Given the description of an element on the screen output the (x, y) to click on. 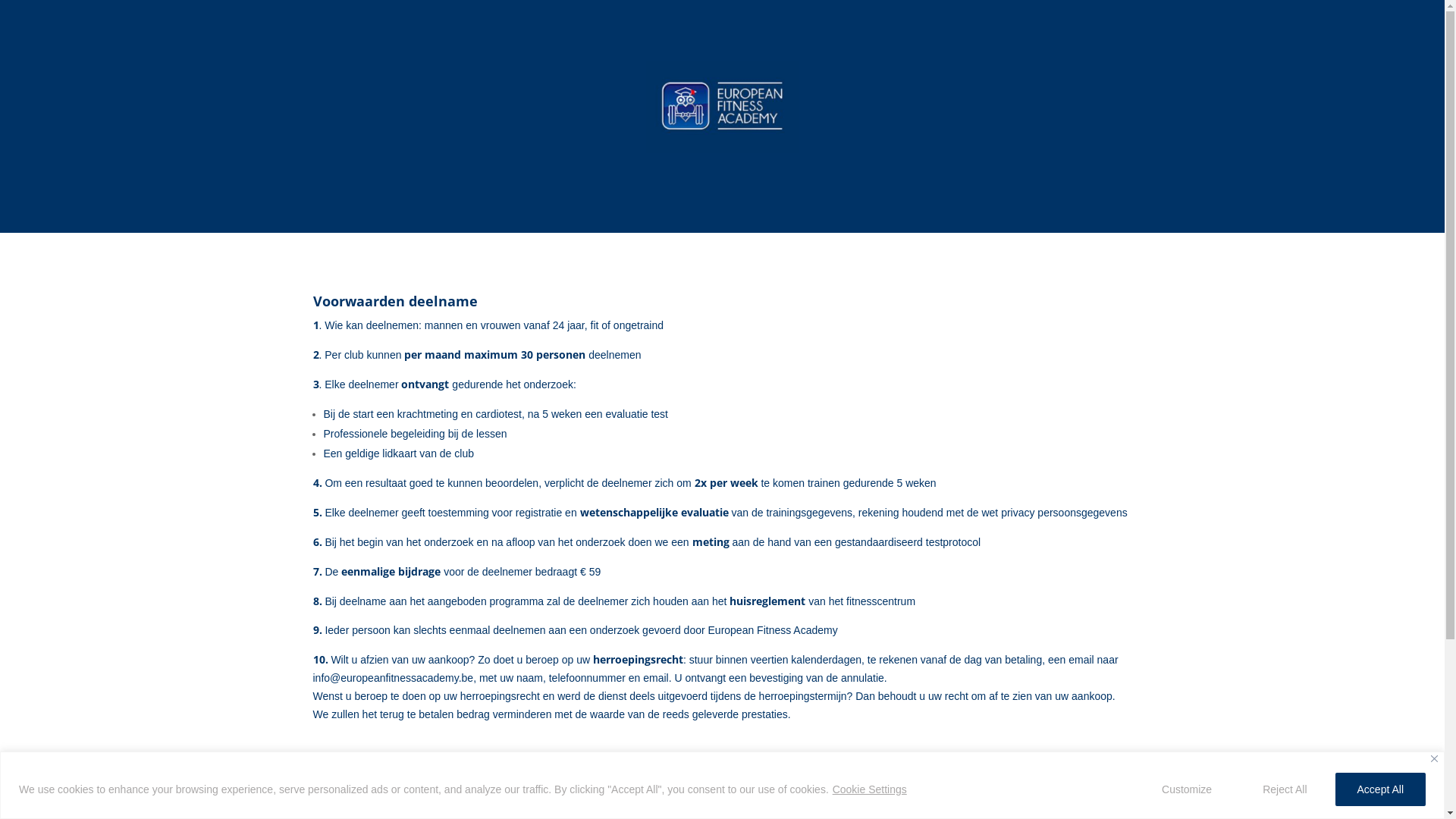
Cookie Settings Element type: text (869, 789)
Reject All Element type: text (1284, 788)
Customize Element type: text (1191, 788)
Accept All Element type: text (1380, 788)
